Given the description of an element on the screen output the (x, y) to click on. 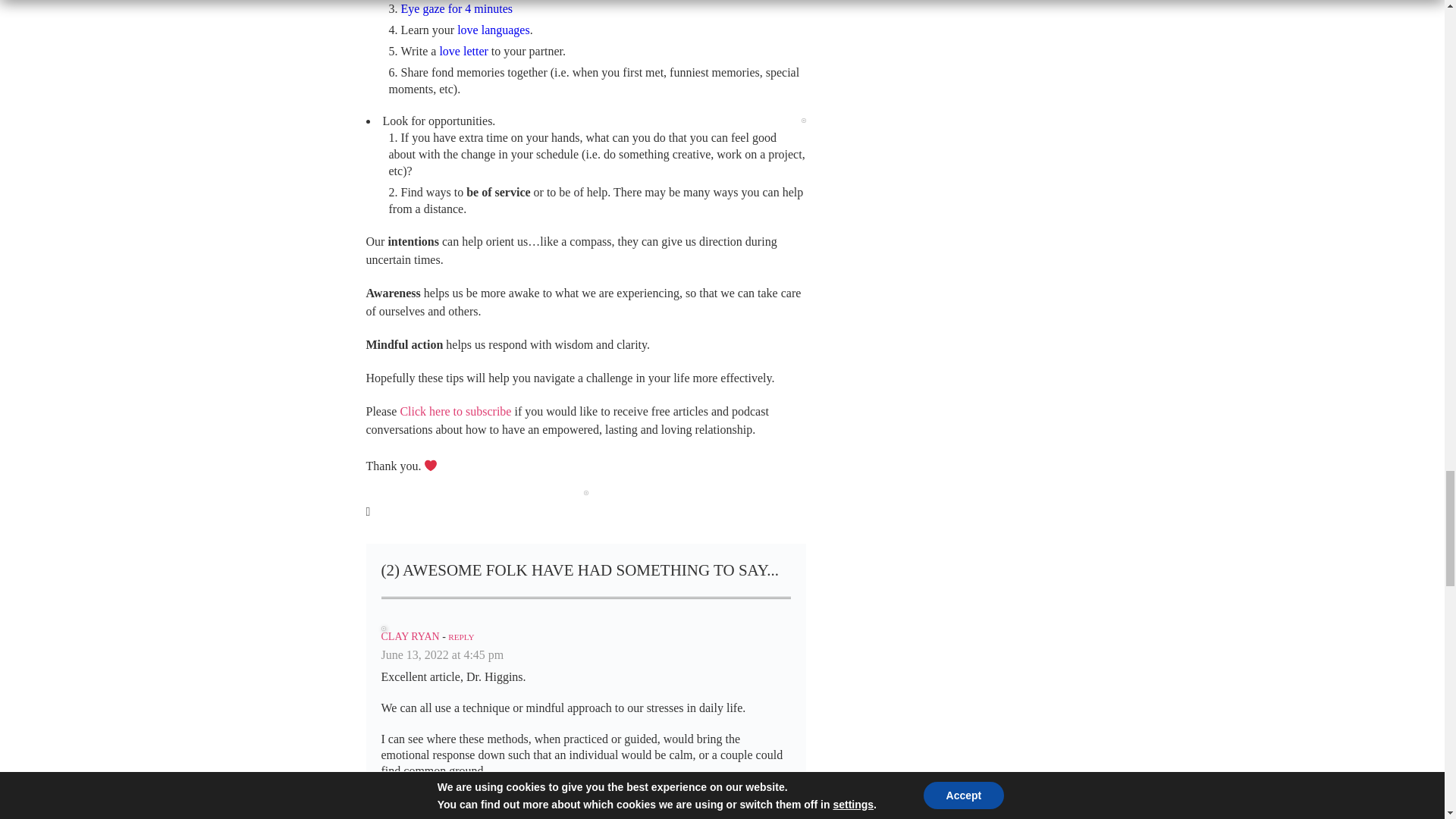
love letter (463, 51)
CLAY RYAN (409, 636)
Click here to subscribe (454, 410)
love languages (493, 29)
Eye gaze for 4 minutes (456, 8)
REPLY (461, 636)
